Given the description of an element on the screen output the (x, y) to click on. 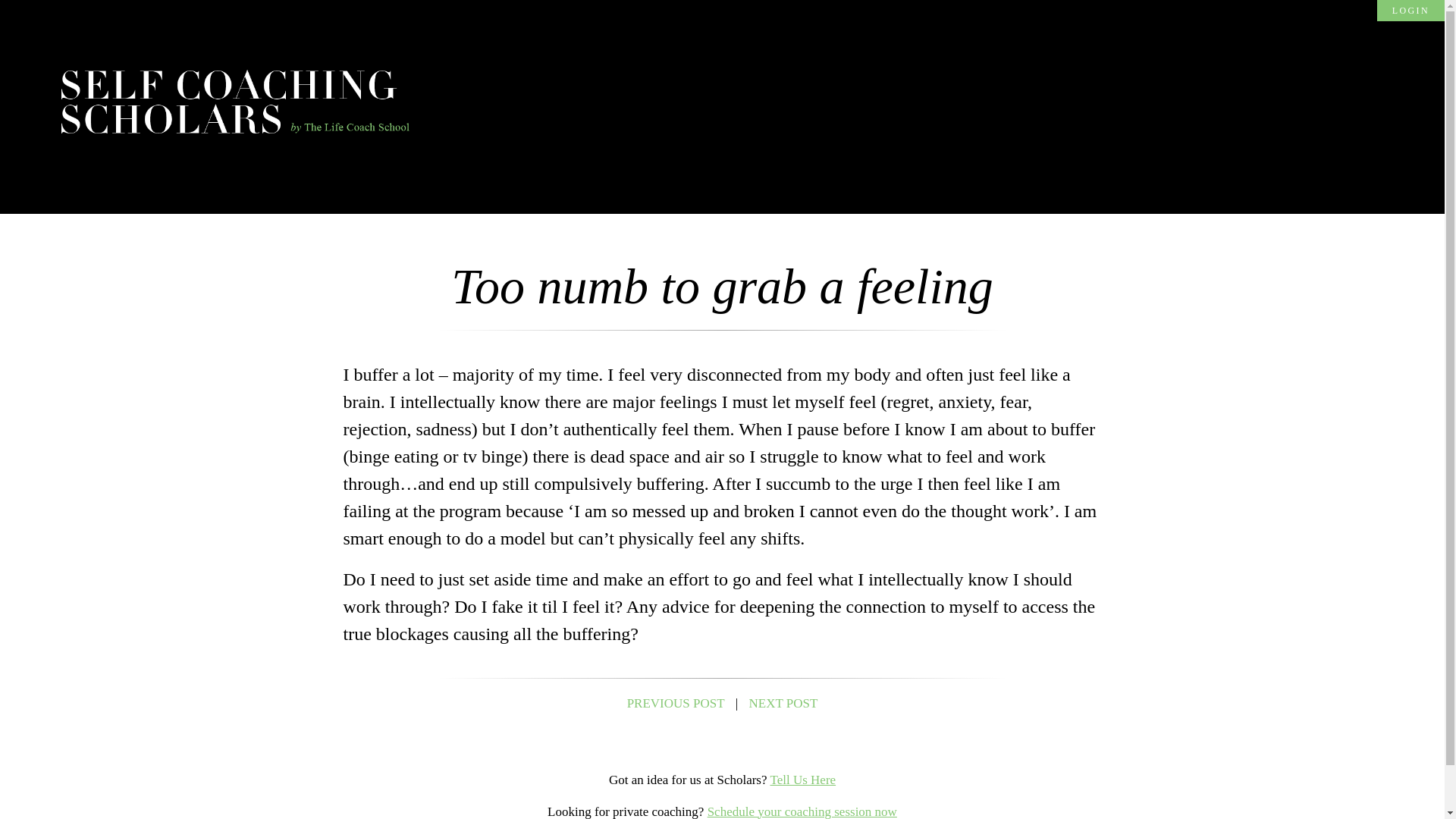
PREVIOUS POST (676, 703)
Schedule your coaching session now (801, 811)
NEXT POST (783, 703)
Tell Us Here (802, 780)
